Given the description of an element on the screen output the (x, y) to click on. 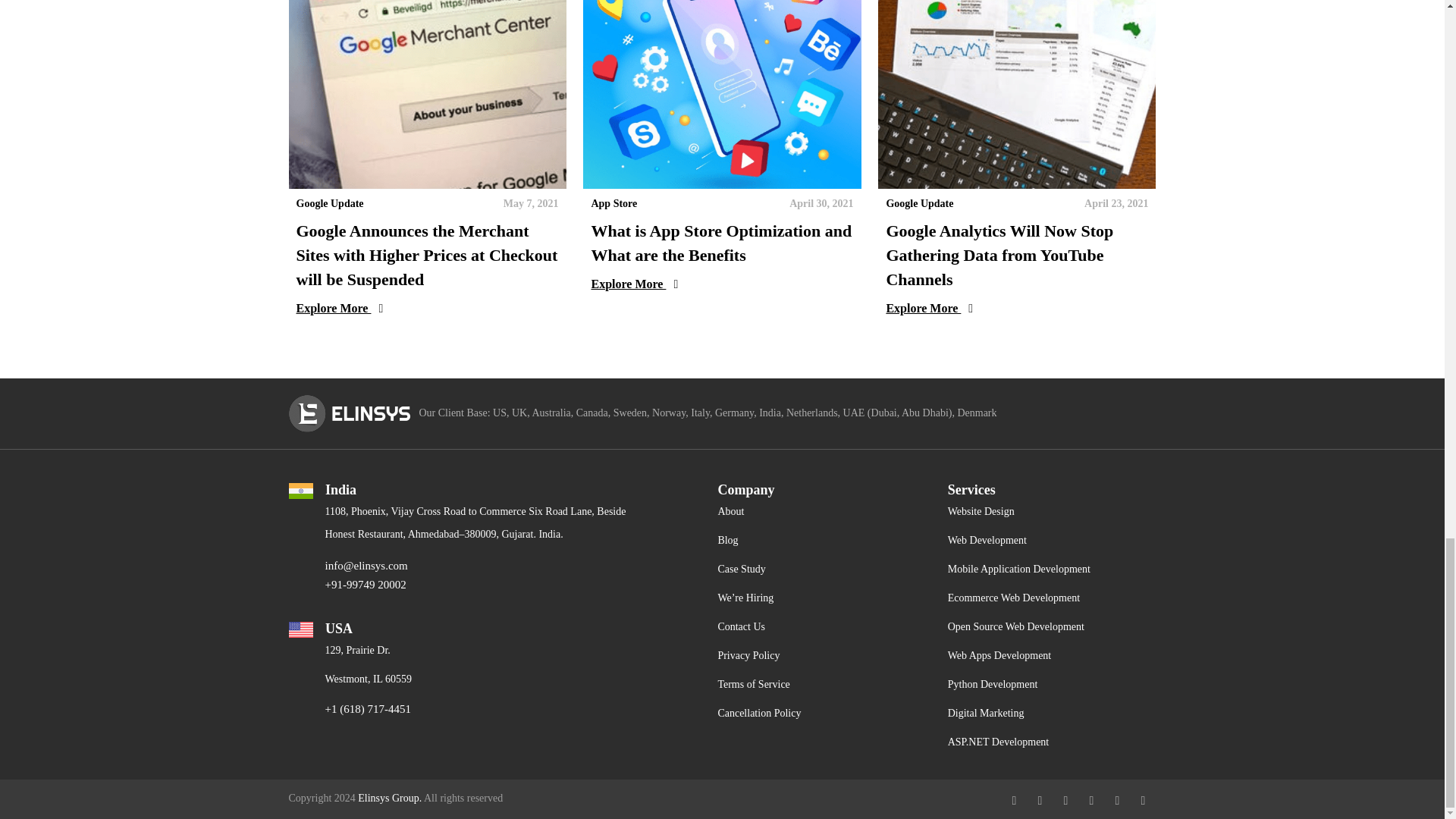
Contact Us (741, 626)
Blog (727, 540)
Case Study (741, 568)
Explore More (426, 308)
Explore More (1016, 308)
About (730, 511)
Explore More (722, 284)
